Given the description of an element on the screen output the (x, y) to click on. 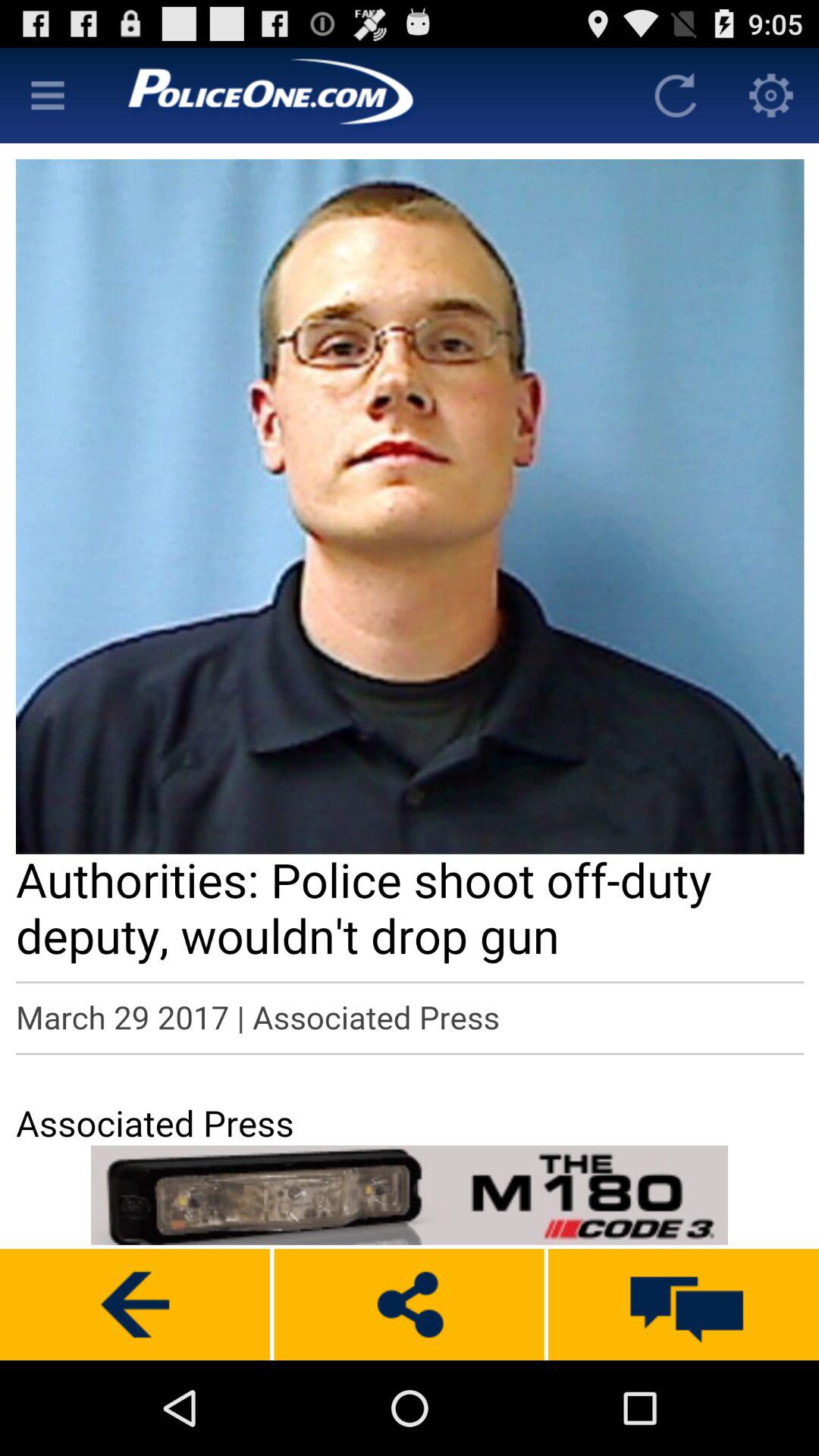
website 's or app 's logo (361, 95)
